Given the description of an element on the screen output the (x, y) to click on. 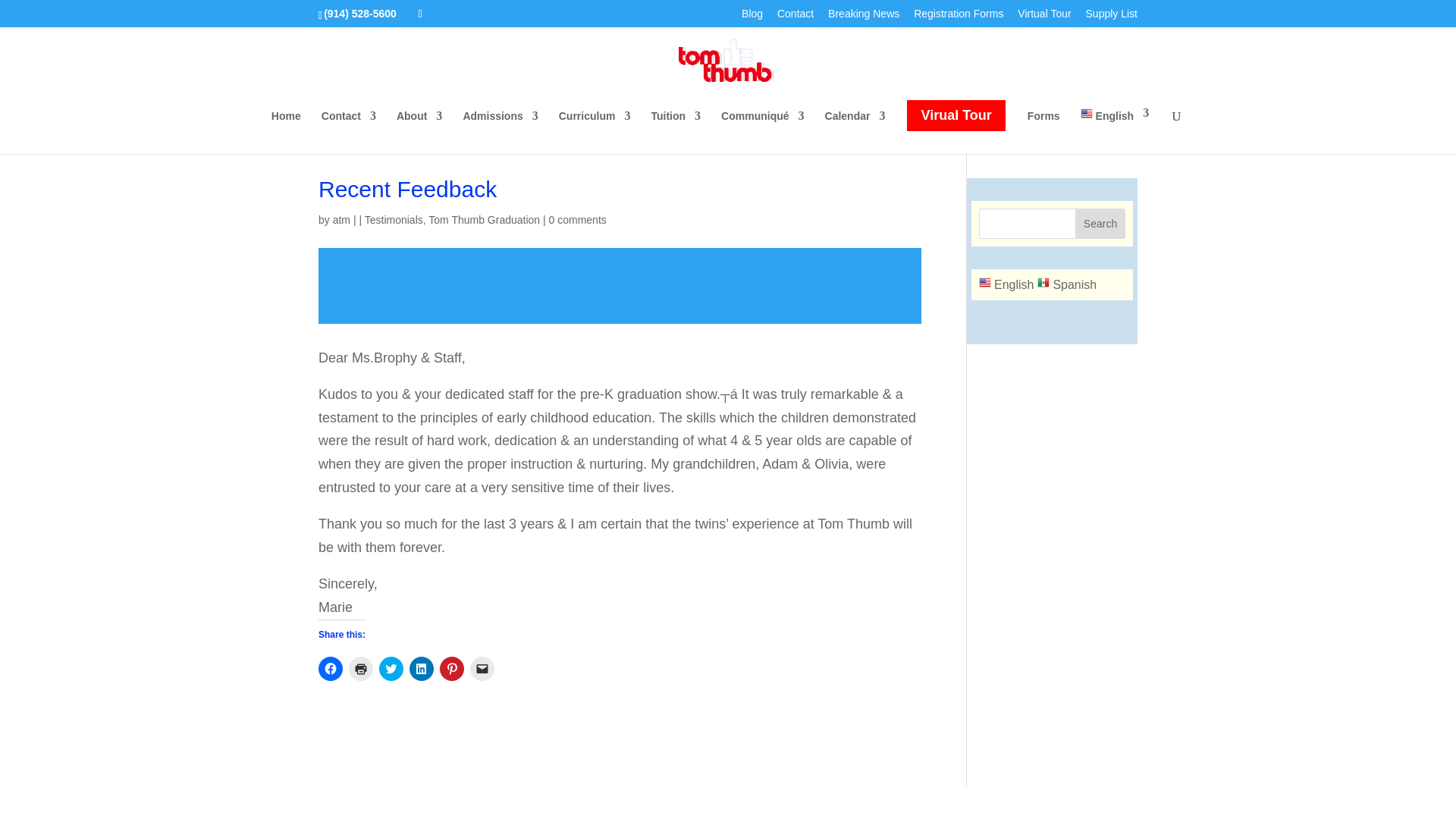
Supply List (1111, 16)
Back to the Tom Thumb Preschool Website (285, 126)
Click to share on Facebook (330, 668)
Breaking News (863, 16)
Curriculum (594, 126)
Blog (751, 16)
Search (1100, 223)
Contact (348, 126)
Virtual Tour of Tom Thumb and ThumBelina (1043, 16)
Home (285, 126)
